Given the description of an element on the screen output the (x, y) to click on. 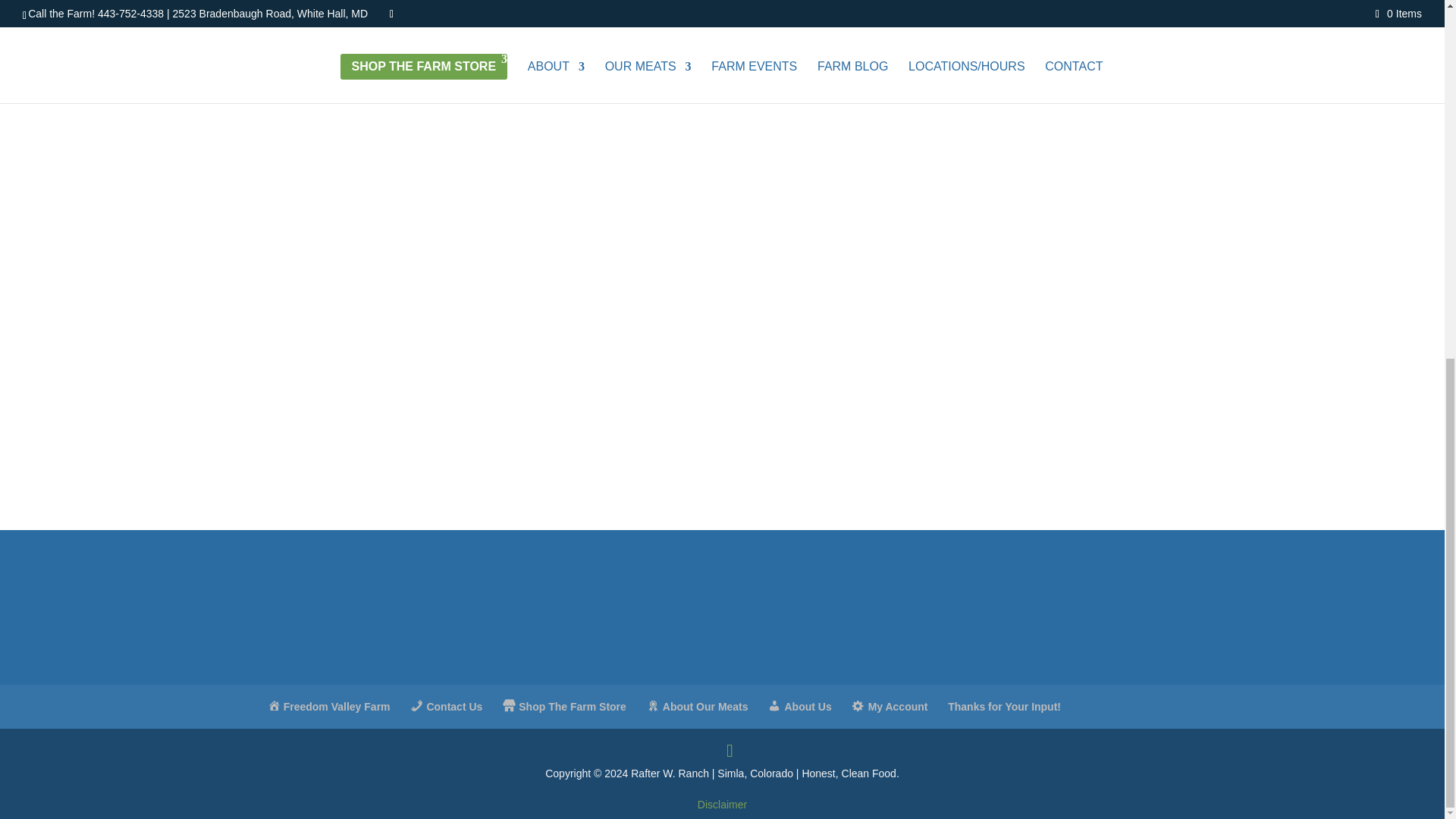
About Us (799, 706)
Shop The Farm Store (564, 706)
Disclaimer (721, 804)
Freedom Valley Farm (328, 706)
My Account (889, 706)
About Our Meats (697, 706)
Thanks for Your Input! (1004, 706)
Contact Us (445, 706)
